Given the description of an element on the screen output the (x, y) to click on. 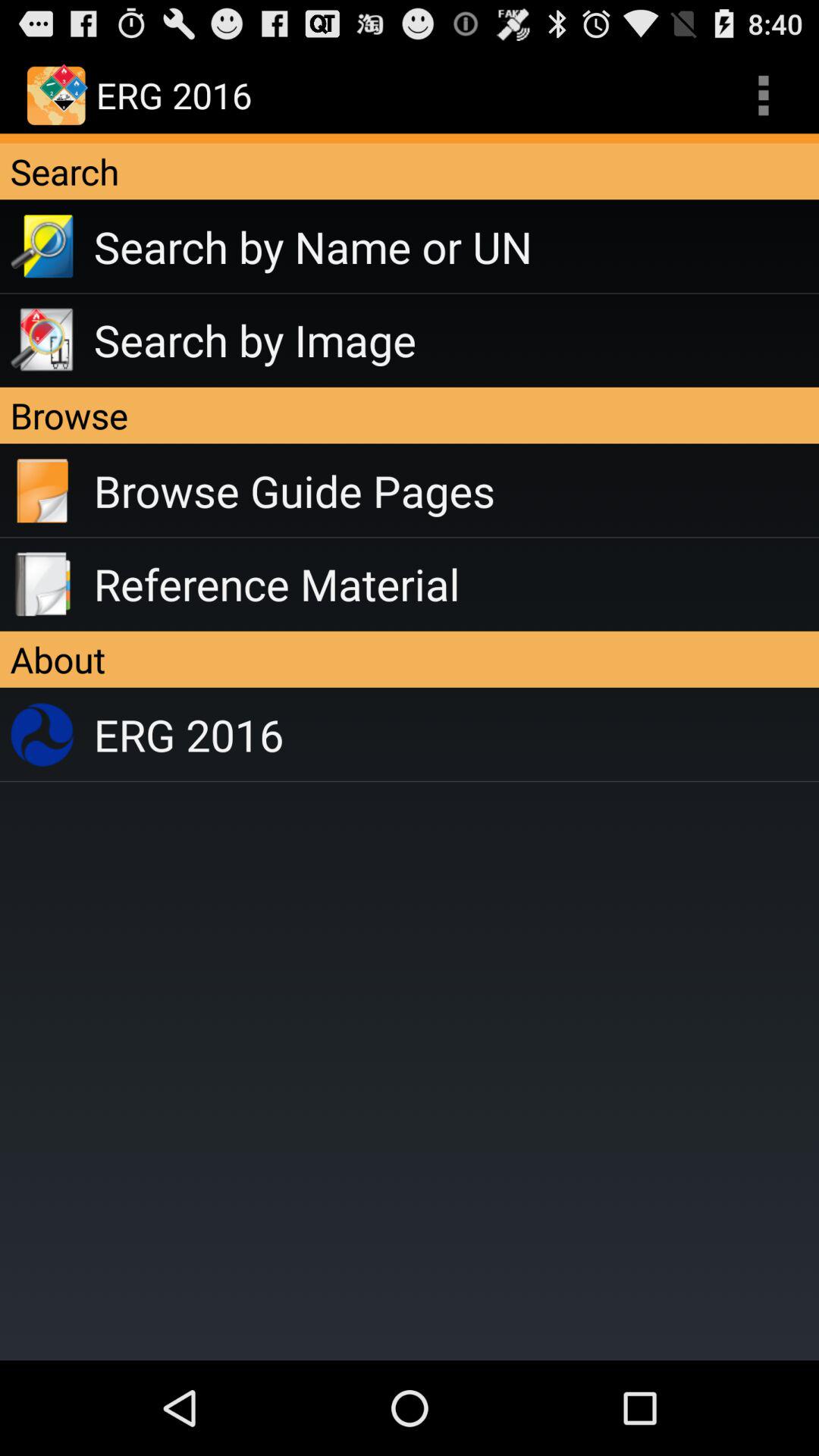
select reference material app (456, 584)
